Given the description of an element on the screen output the (x, y) to click on. 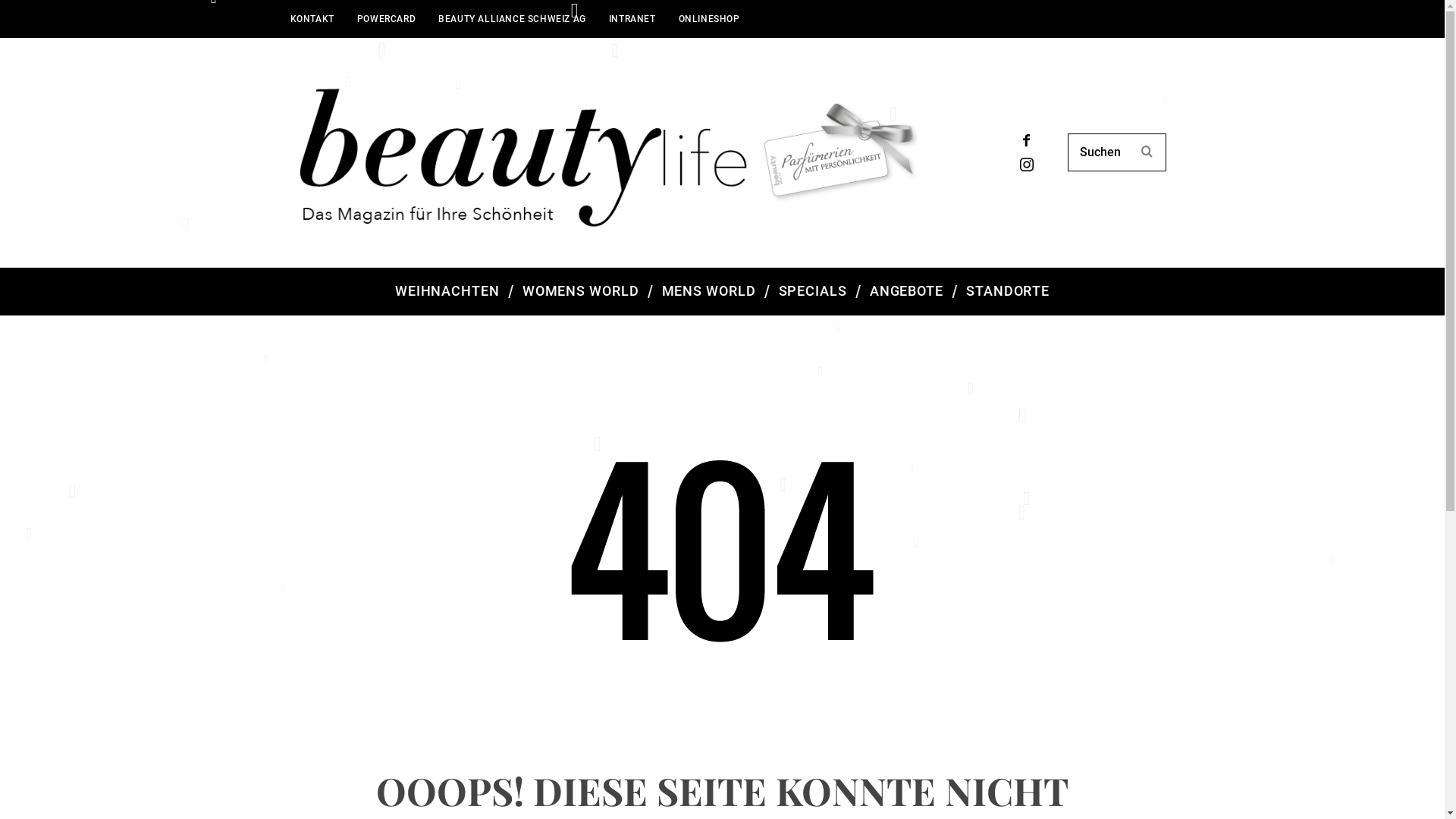
WOMENS WORLD Element type: text (580, 290)
BEAUTY ALLIANCE SCHWEIZ AG Element type: text (511, 18)
MENS WORLD Element type: text (708, 290)
INTRANET Element type: text (632, 18)
ANGEBOTE Element type: text (906, 290)
WEIHNACHTEN Element type: text (447, 290)
SPECIALS Element type: text (812, 290)
STANDORTE Element type: text (1007, 290)
ONLINESHOP Element type: text (709, 18)
POWERCARD Element type: text (385, 18)
KONTAKT Element type: text (312, 18)
